Given the description of an element on the screen output the (x, y) to click on. 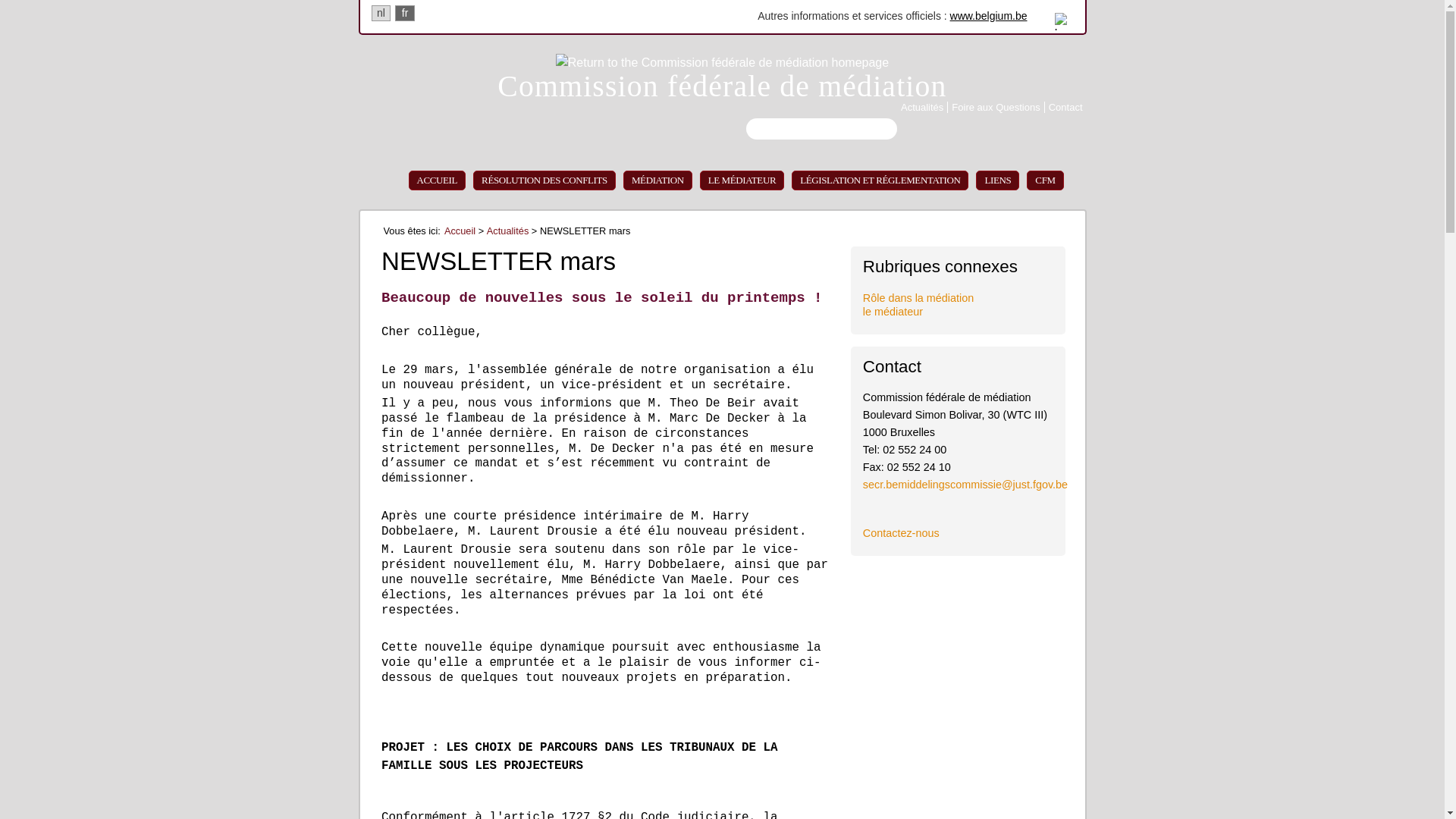
LIENS Element type: text (997, 180)
Skip to main content Element type: text (54, 0)
secr.bemiddelingscommissie@just.fgov.be
(link sends e-mail) Element type: text (964, 491)
Contactez-nous Element type: text (900, 533)
www.belgium.be
(link is external) Element type: text (993, 15)
fr Element type: text (404, 13)
Foire aux Questions Element type: text (995, 106)
Contact Element type: text (1065, 106)
nl Element type: text (381, 13)
Accueil Element type: text (459, 230)
Enter the terms you wish to search for. Element type: hover (814, 128)
CFM Element type: text (1044, 180)
ACCUEIL Element type: text (436, 180)
Rechercher Element type: text (881, 128)
